Given the description of an element on the screen output the (x, y) to click on. 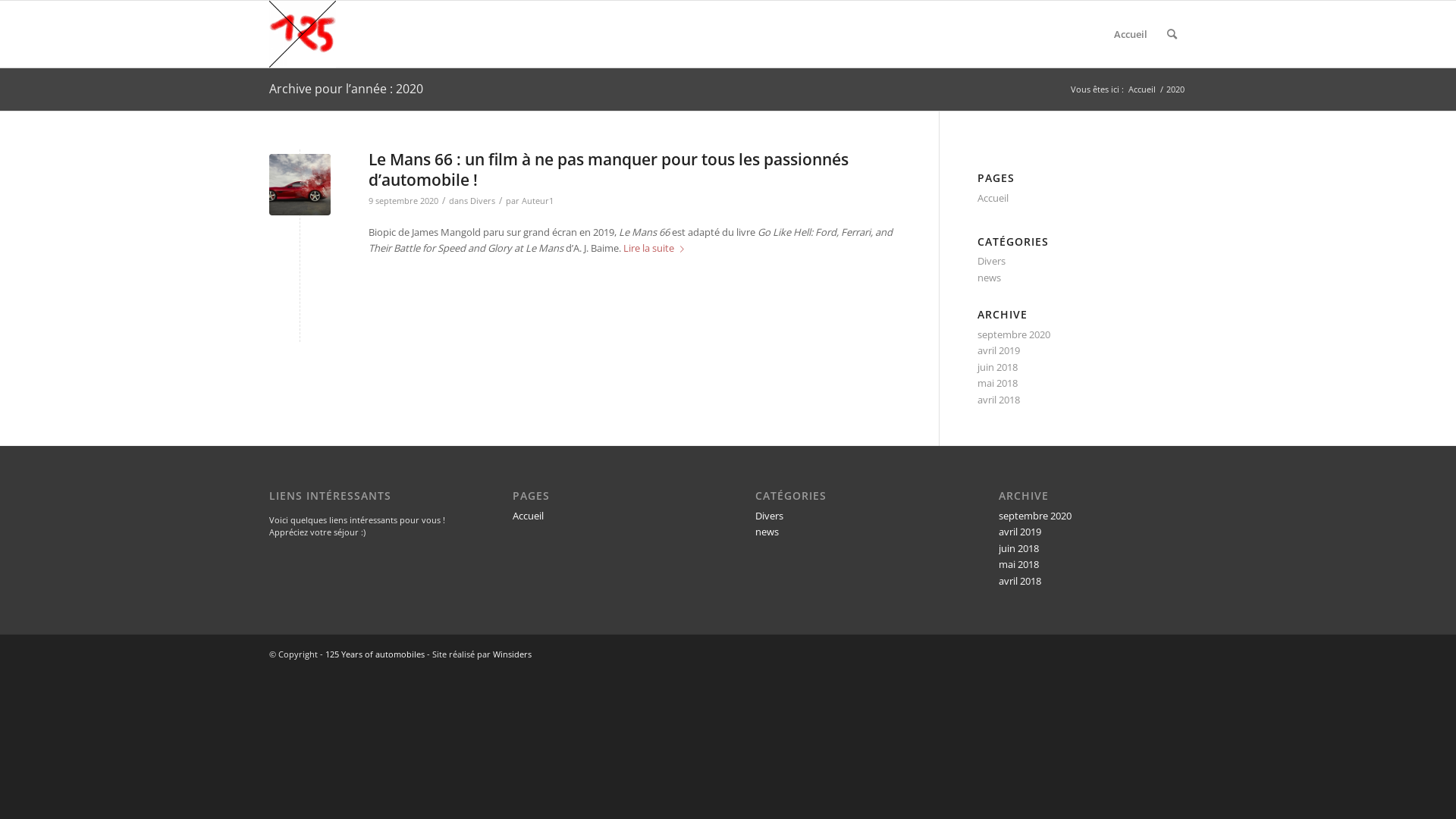
auto-2934064_1920 Element type: hover (299, 184)
Accueil Element type: text (992, 197)
Auteur1 Element type: text (537, 200)
Accueil Element type: text (527, 515)
Lire la suite Element type: text (656, 248)
Divers Element type: text (769, 515)
Winsiders Element type: text (511, 653)
Accueil Element type: text (1141, 88)
avril 2019 Element type: text (1019, 531)
juin 2018 Element type: text (1018, 548)
news Element type: text (989, 277)
Accueil Element type: text (1130, 33)
125 Years of automobiles Element type: text (374, 653)
avril 2018 Element type: text (998, 399)
news Element type: text (766, 531)
septembre 2020 Element type: text (1034, 515)
Divers Element type: text (482, 200)
avril 2018 Element type: text (1019, 580)
juin 2018 Element type: text (997, 366)
avril 2019 Element type: text (998, 350)
Divers Element type: text (991, 260)
septembre 2020 Element type: text (1013, 334)
mai 2018 Element type: text (1018, 564)
mai 2018 Element type: text (997, 382)
